Given the description of an element on the screen output the (x, y) to click on. 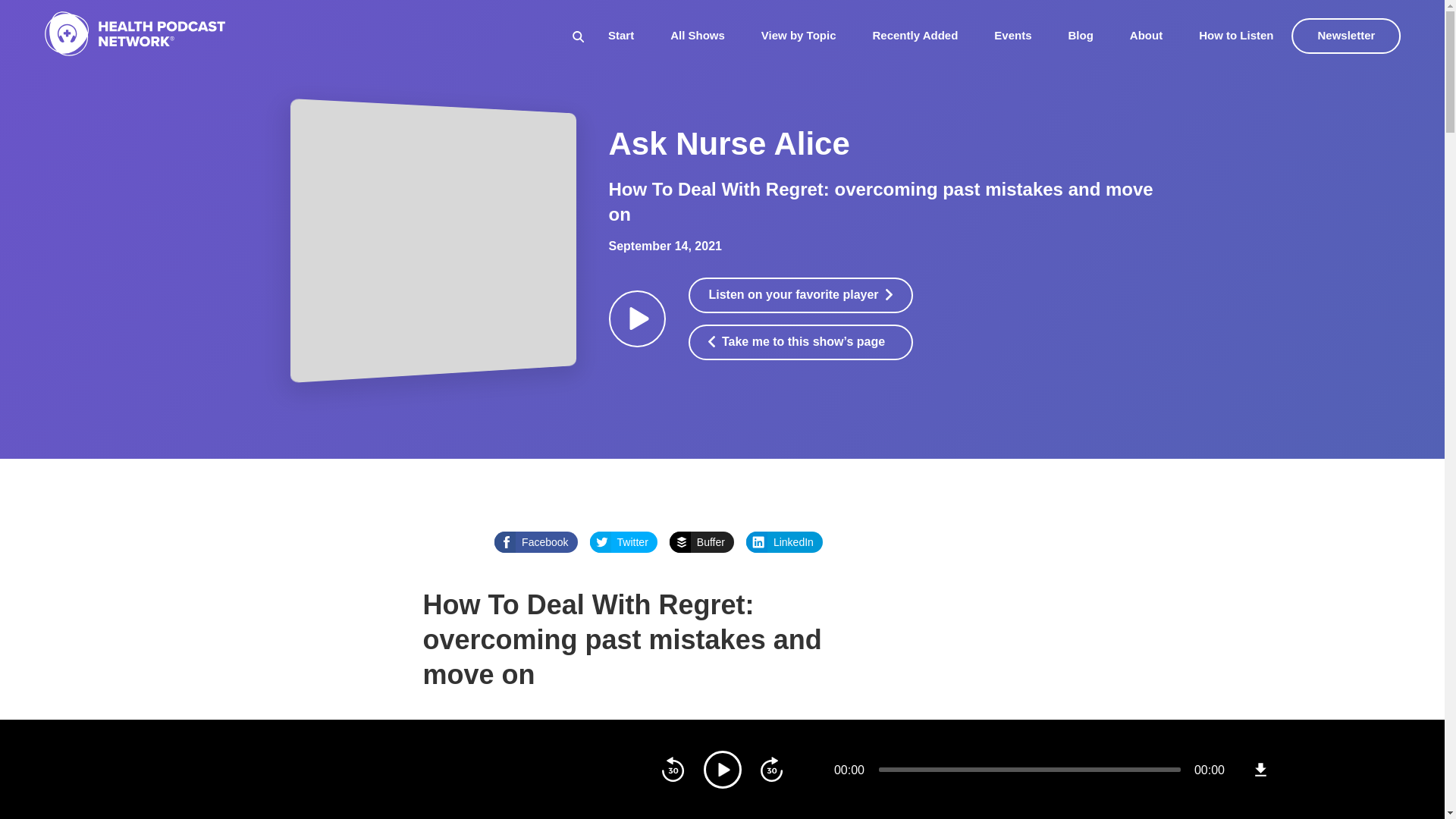
How to Listen (1235, 34)
About (1145, 34)
View by Topic (798, 34)
Events (1012, 34)
Listen on your favorite player (800, 294)
Buffer (701, 541)
Start (620, 34)
Blog (1080, 34)
Newsletter (1346, 36)
Facebook (535, 541)
